Given the description of an element on the screen output the (x, y) to click on. 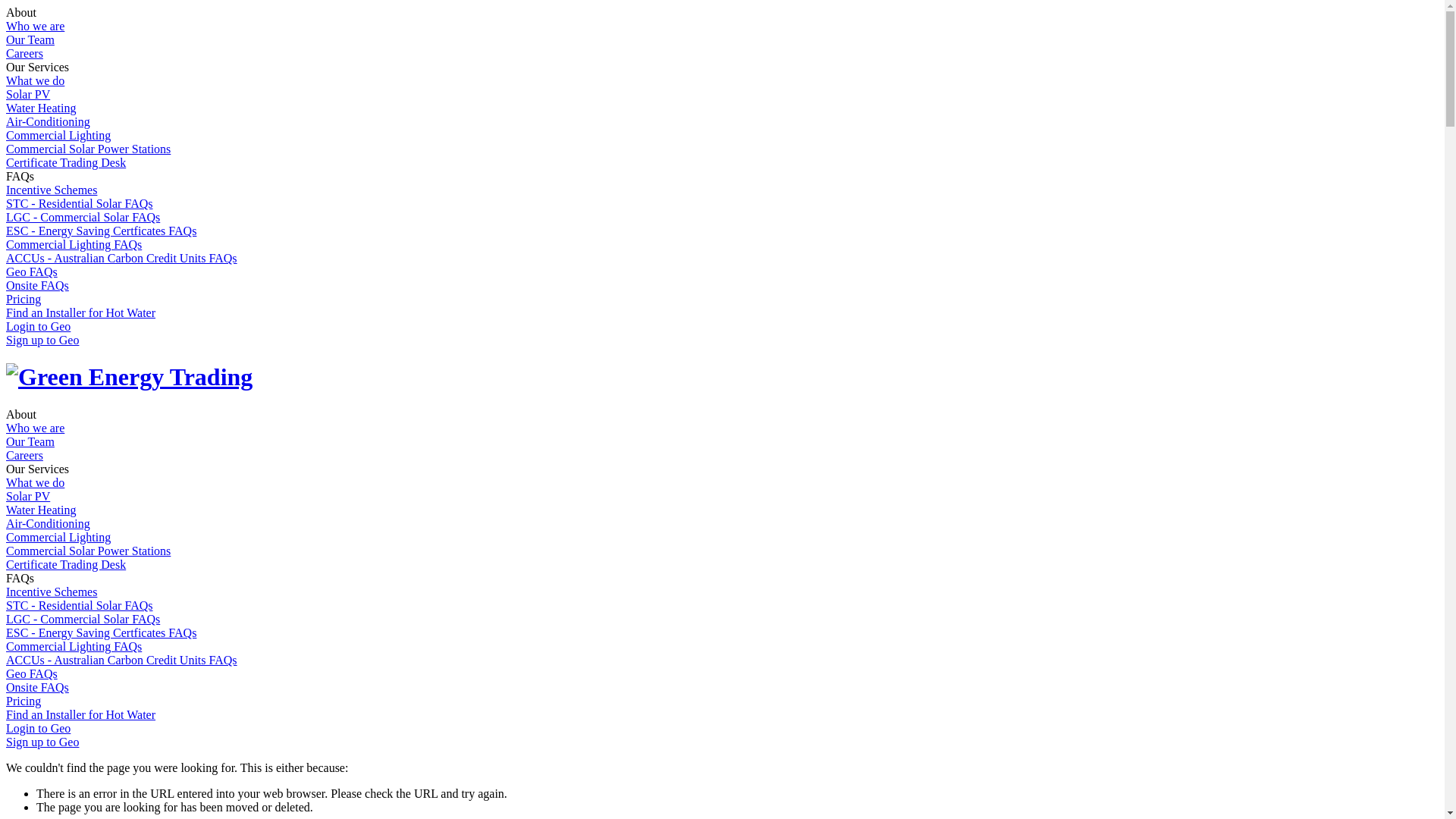
Our Team Element type: text (30, 441)
Solar PV Element type: text (28, 495)
Solar PV Element type: text (28, 93)
ACCUs - Australian Carbon Credit Units FAQs Element type: text (121, 659)
Commercial Lighting FAQs Element type: text (73, 244)
Our Team Element type: text (30, 39)
LGC - Commercial Solar FAQs Element type: text (83, 618)
Find an Installer for Hot Water Element type: text (80, 312)
Careers Element type: text (24, 53)
Sign up to Geo Element type: text (42, 339)
Certificate Trading Desk Element type: text (65, 564)
Incentive Schemes Element type: text (51, 591)
Commercial Lighting Element type: text (58, 536)
Login to Geo Element type: text (38, 727)
Commercial Solar Power Stations Element type: text (88, 550)
LGC - Commercial Solar FAQs Element type: text (83, 216)
Who we are Element type: text (35, 25)
Water Heating Element type: text (40, 509)
Find an Installer for Hot Water Element type: text (80, 714)
Geo FAQs Element type: text (31, 271)
Incentive Schemes Element type: text (51, 189)
ESC - Energy Saving Certficates FAQs Element type: text (101, 632)
Onsite FAQs Element type: text (37, 285)
What we do Element type: text (35, 80)
Water Heating Element type: text (40, 107)
Certificate Trading Desk Element type: text (65, 162)
Sign up to Geo Element type: text (42, 741)
Commercial Lighting Element type: text (58, 134)
ESC - Energy Saving Certficates FAQs Element type: text (101, 230)
STC - Residential Solar FAQs Element type: text (79, 203)
What we do Element type: text (35, 482)
Geo FAQs Element type: text (31, 673)
Onsite FAQs Element type: text (37, 686)
Commercial Lighting FAQs Element type: text (73, 646)
Air-Conditioning Element type: text (48, 523)
Pricing Element type: text (23, 298)
ACCUs - Australian Carbon Credit Units FAQs Element type: text (121, 257)
Careers Element type: text (24, 454)
Who we are Element type: text (35, 427)
Commercial Solar Power Stations Element type: text (88, 148)
Air-Conditioning Element type: text (48, 121)
Login to Geo Element type: text (38, 326)
Pricing Element type: text (23, 700)
STC - Residential Solar FAQs Element type: text (79, 605)
